Given the description of an element on the screen output the (x, y) to click on. 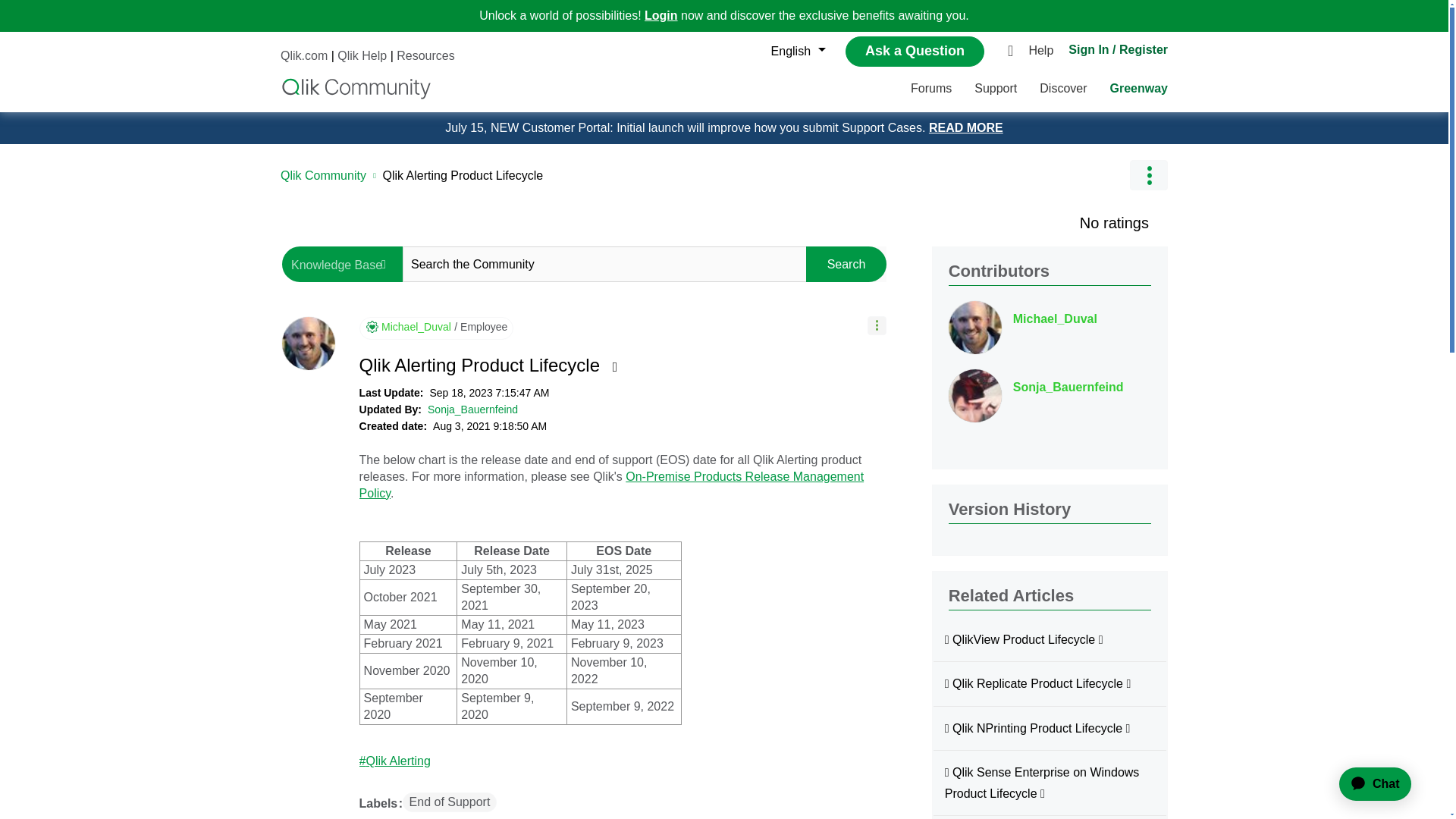
English (793, 51)
Qlik (356, 88)
Login (661, 15)
Ask a Question (914, 51)
Help (1044, 51)
Resources (425, 55)
Qlik.com (304, 55)
Qlik Help (362, 55)
Search (846, 263)
Search (846, 263)
